Given the description of an element on the screen output the (x, y) to click on. 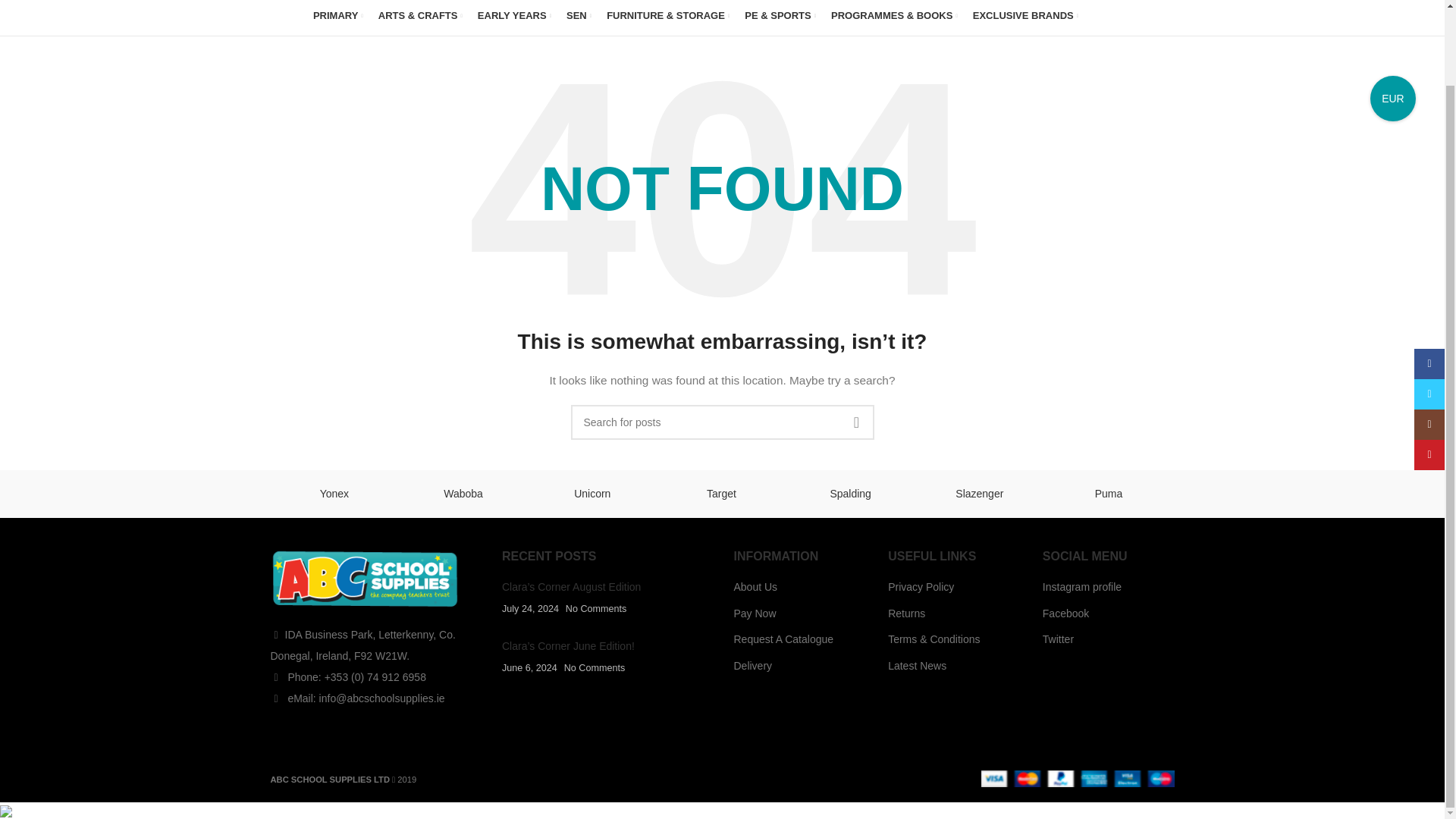
Waboba (462, 493)
PRIMARY (337, 15)
Spalding (850, 493)
Unicorn (591, 493)
Yonex (333, 493)
Target (721, 493)
Search for posts (721, 421)
